Given the description of an element on the screen output the (x, y) to click on. 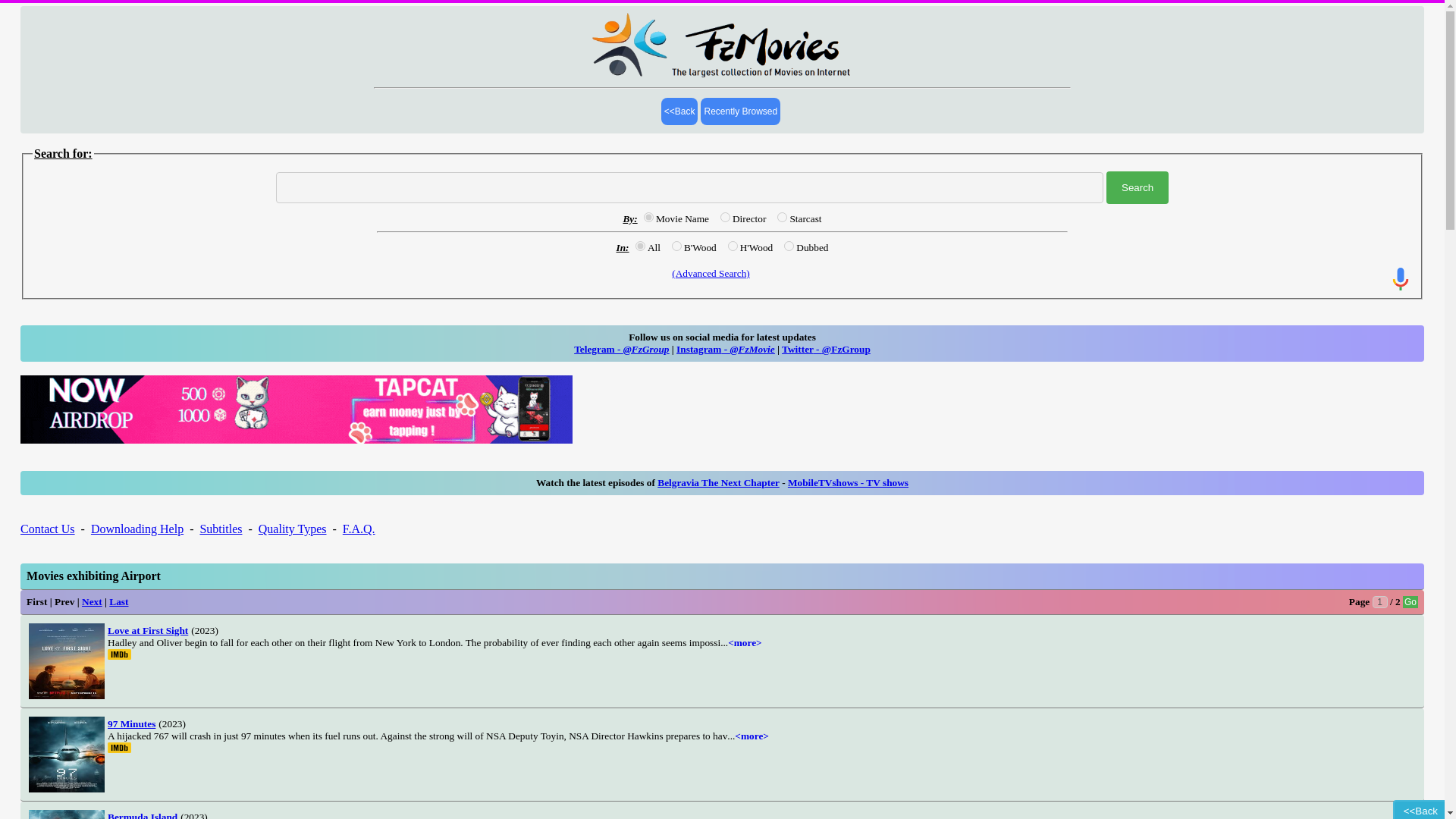
Love at First Sight (147, 629)
Contact Us (47, 528)
Search (1137, 187)
Last (118, 601)
MobileTVshows - TV shows (847, 482)
Quality Types (292, 528)
Subtitles (220, 528)
1 (1380, 602)
Bermuda Island (142, 814)
Name (648, 216)
